Given the description of an element on the screen output the (x, y) to click on. 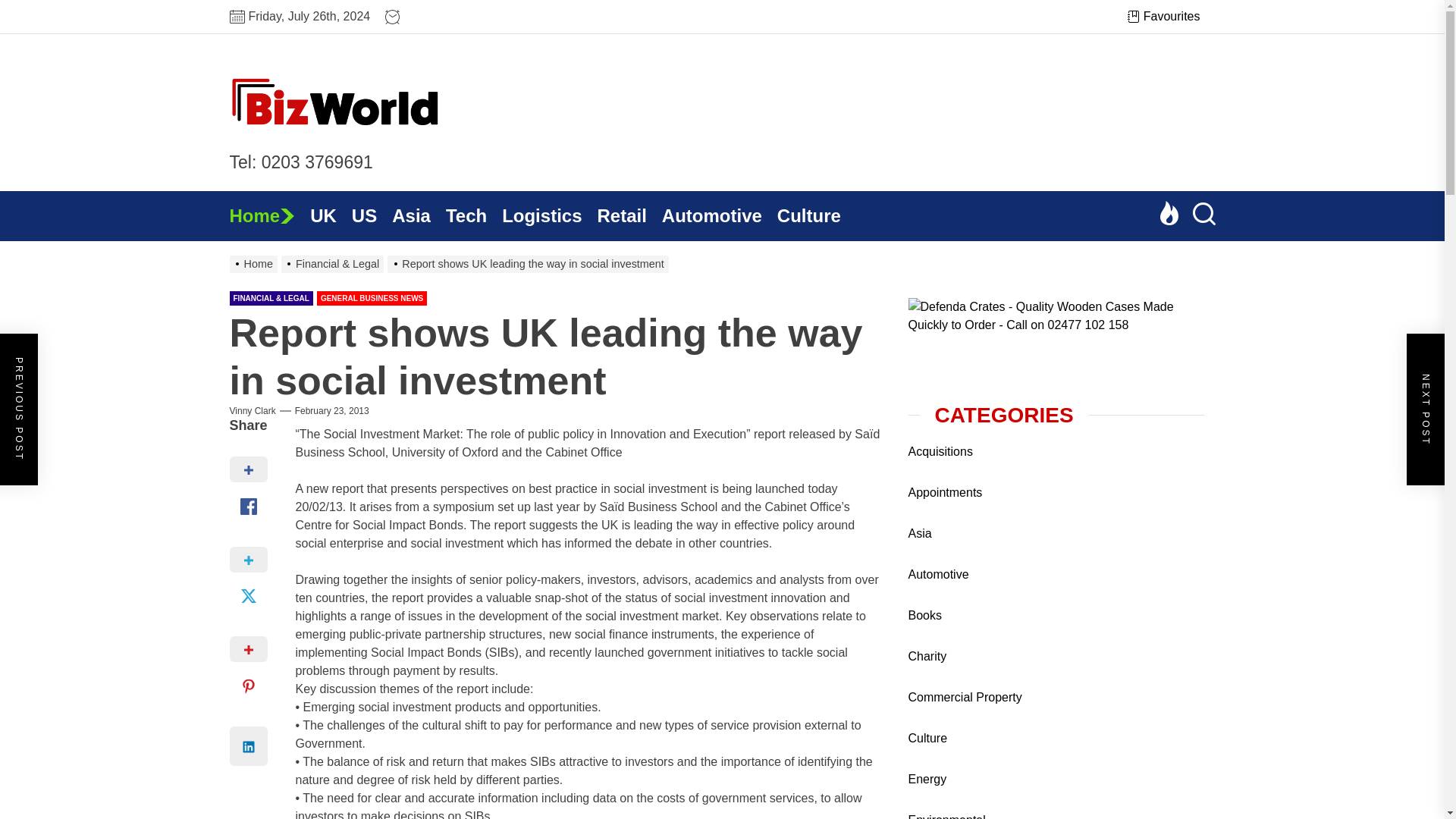
Tech (473, 215)
Logistics (549, 215)
Culture (816, 215)
Retail (629, 215)
Home (269, 215)
Automotive (719, 215)
Favourites (1162, 16)
Home (269, 215)
Asia (418, 215)
